Given the description of an element on the screen output the (x, y) to click on. 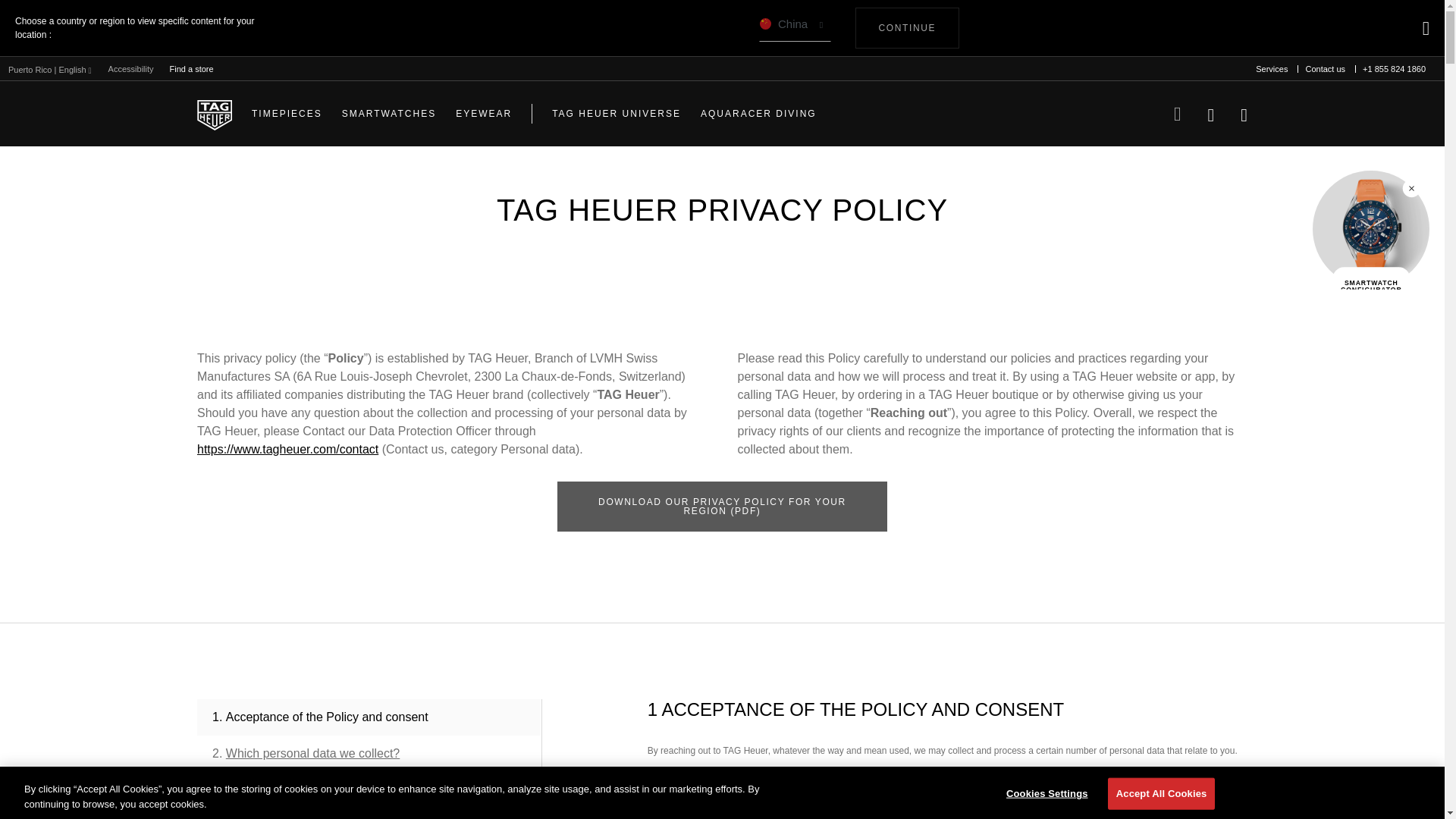
Homepage (213, 113)
China (794, 27)
Services (1271, 68)
TAG Heuer logo" (213, 113)
TIMEPIECES (907, 27)
Find a store (286, 113)
Contact us (191, 68)
Accessibility (1324, 68)
